Given the description of an element on the screen output the (x, y) to click on. 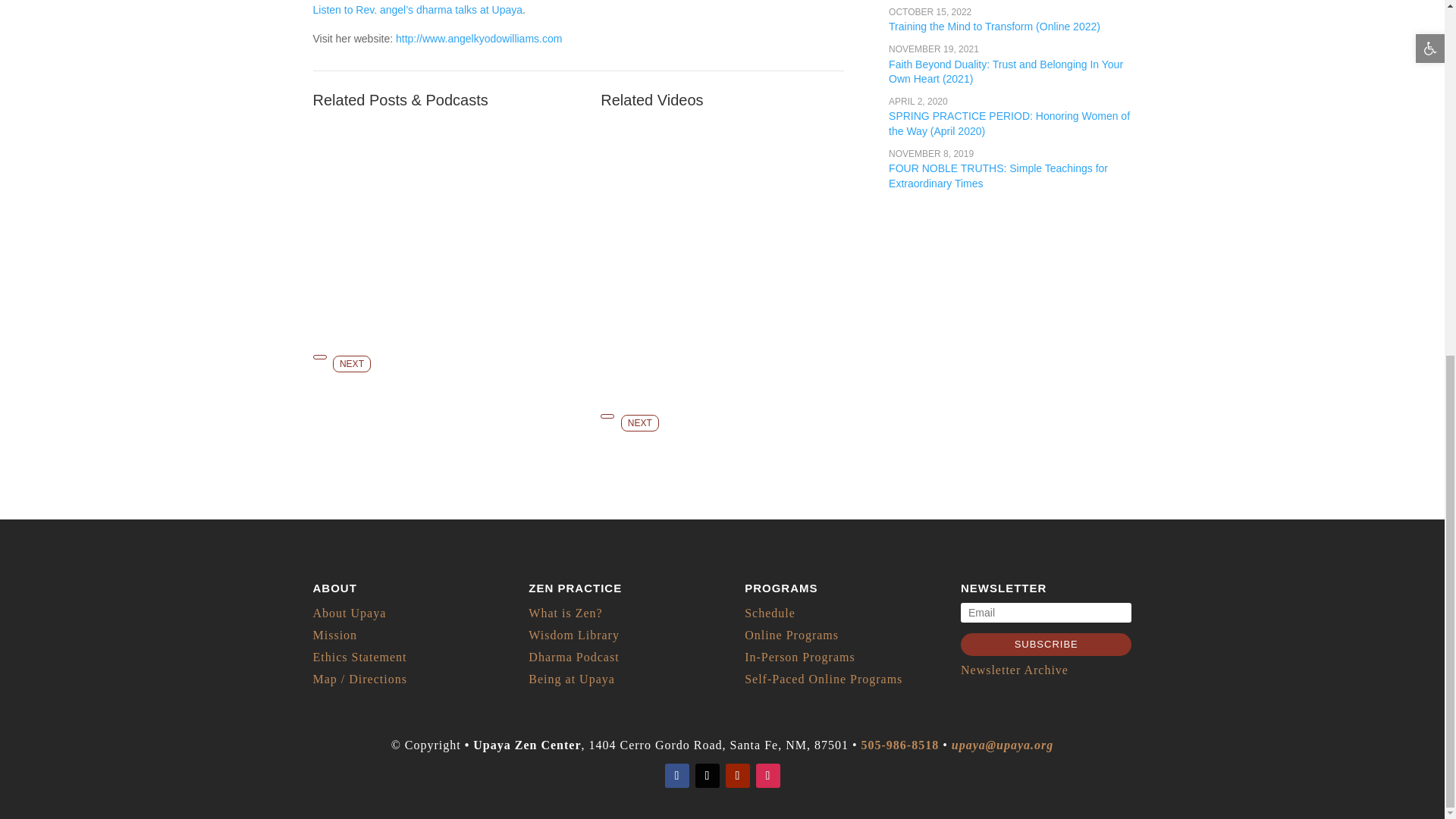
Follow on X (706, 775)
Follow on Facebook (675, 775)
Follow on Instagram (766, 775)
Follow on Youtube (737, 775)
